Given the description of an element on the screen output the (x, y) to click on. 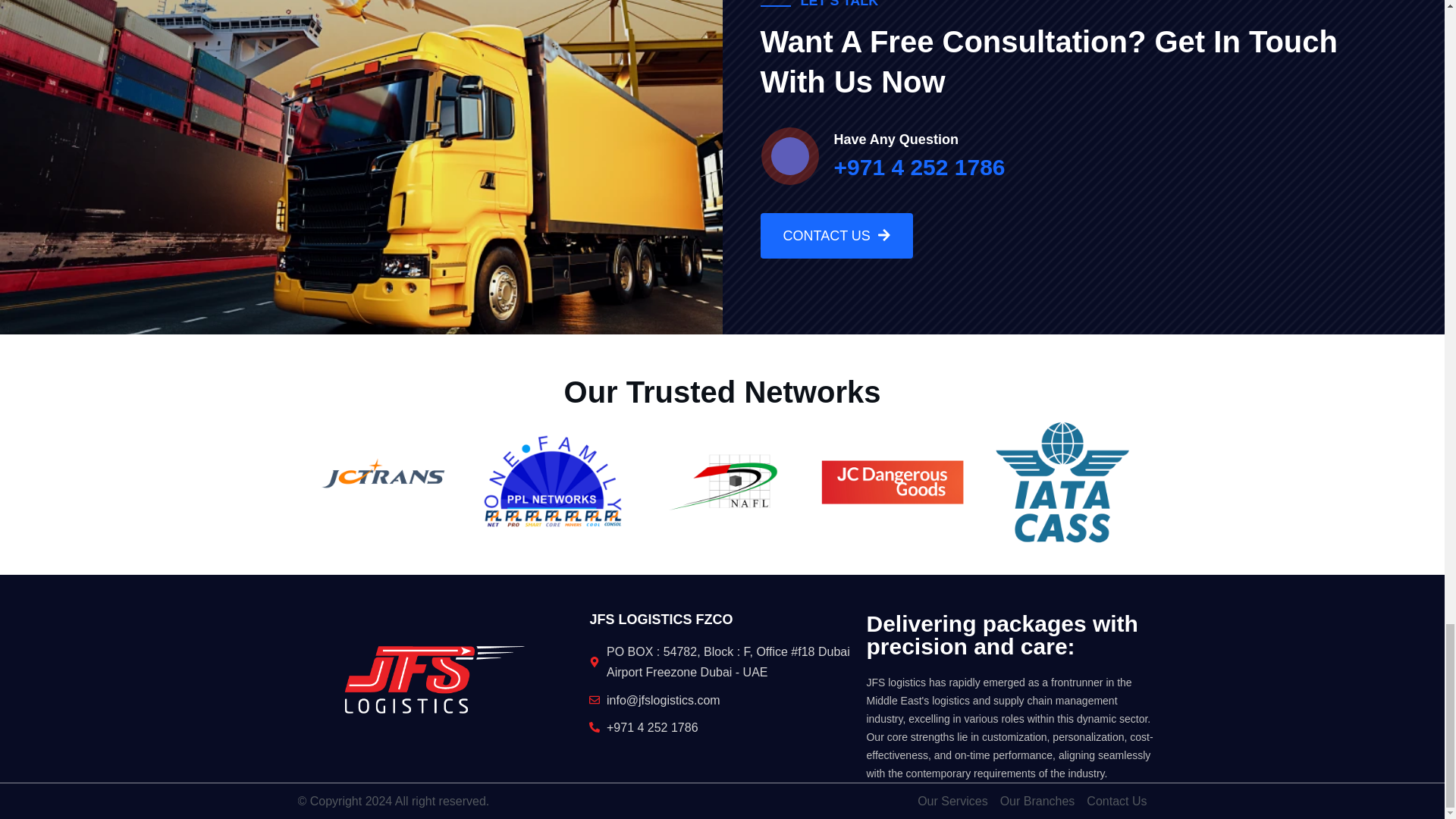
CONTACT US (836, 235)
